Given the description of an element on the screen output the (x, y) to click on. 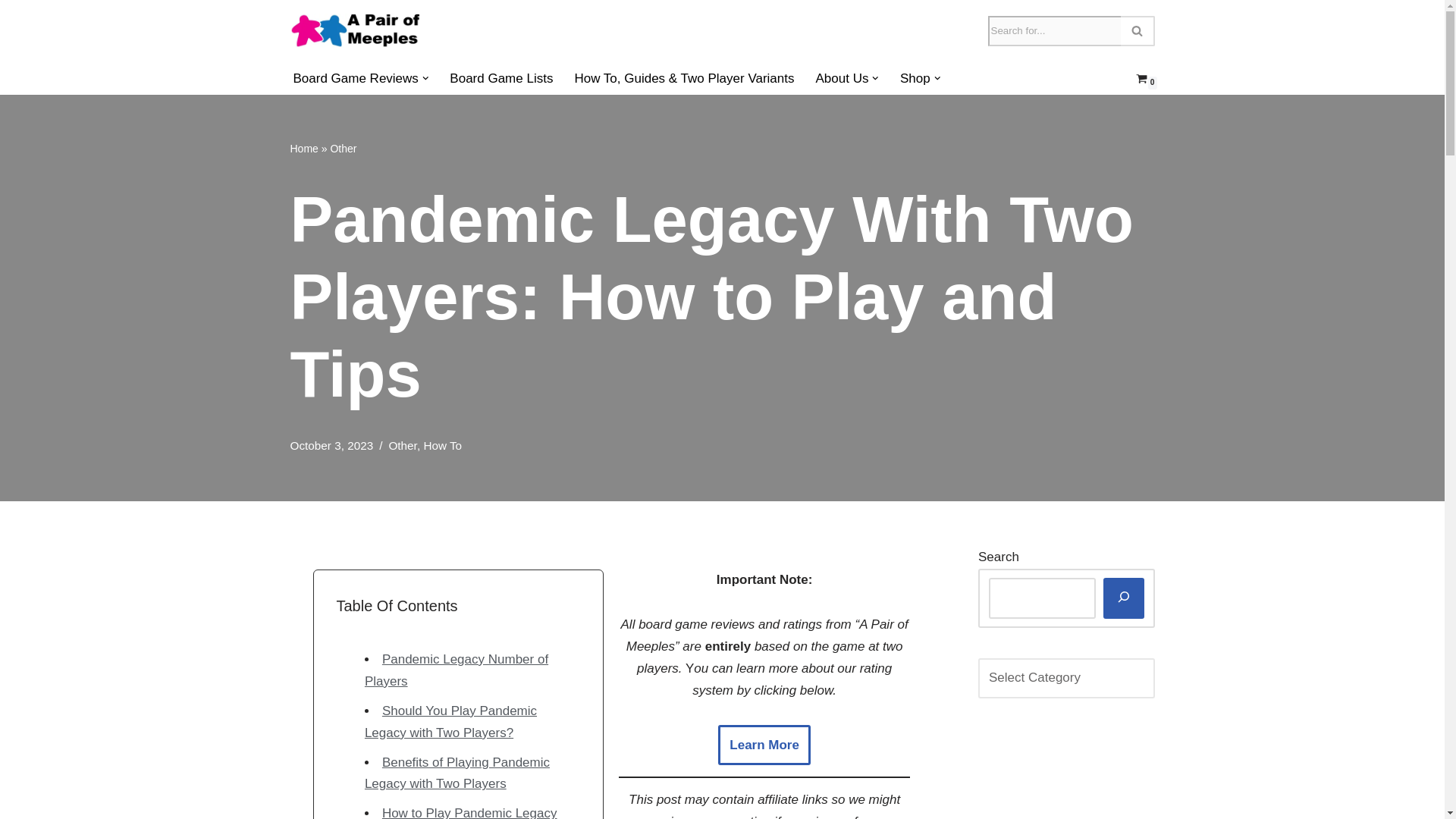
About Us (842, 77)
0 (1141, 78)
Shop (914, 77)
Board Game Reviews (354, 77)
Skip to content (11, 31)
Board Game Lists (501, 77)
